Given the description of an element on the screen output the (x, y) to click on. 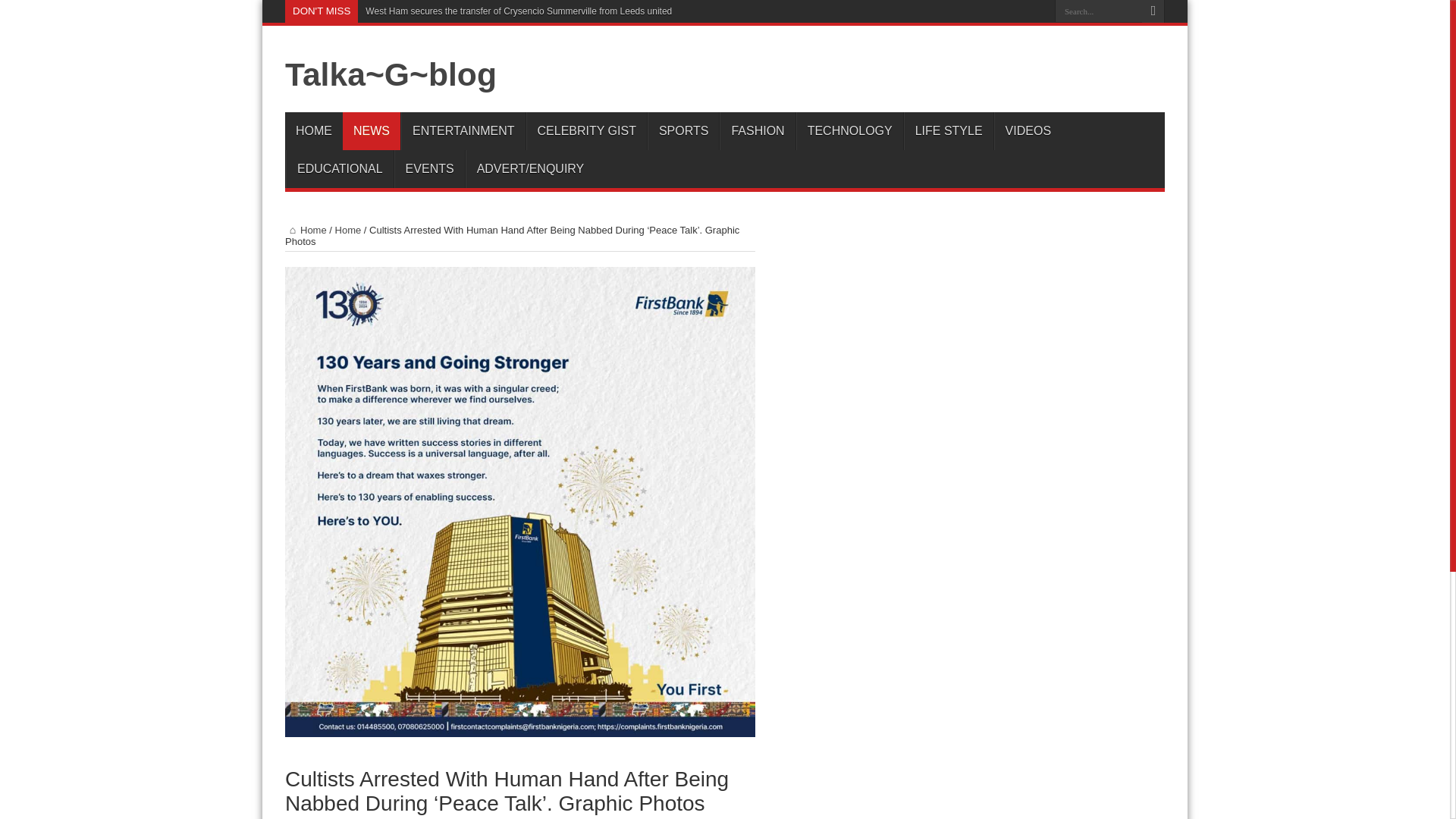
EDUCATIONAL (339, 168)
TECHNOLOGY (849, 130)
FASHION (756, 130)
SPORTS (683, 130)
Search (1152, 11)
VIDEOS (1027, 130)
LIFE STYLE (948, 130)
Search... (1097, 11)
EVENTS (429, 168)
